Given the description of an element on the screen output the (x, y) to click on. 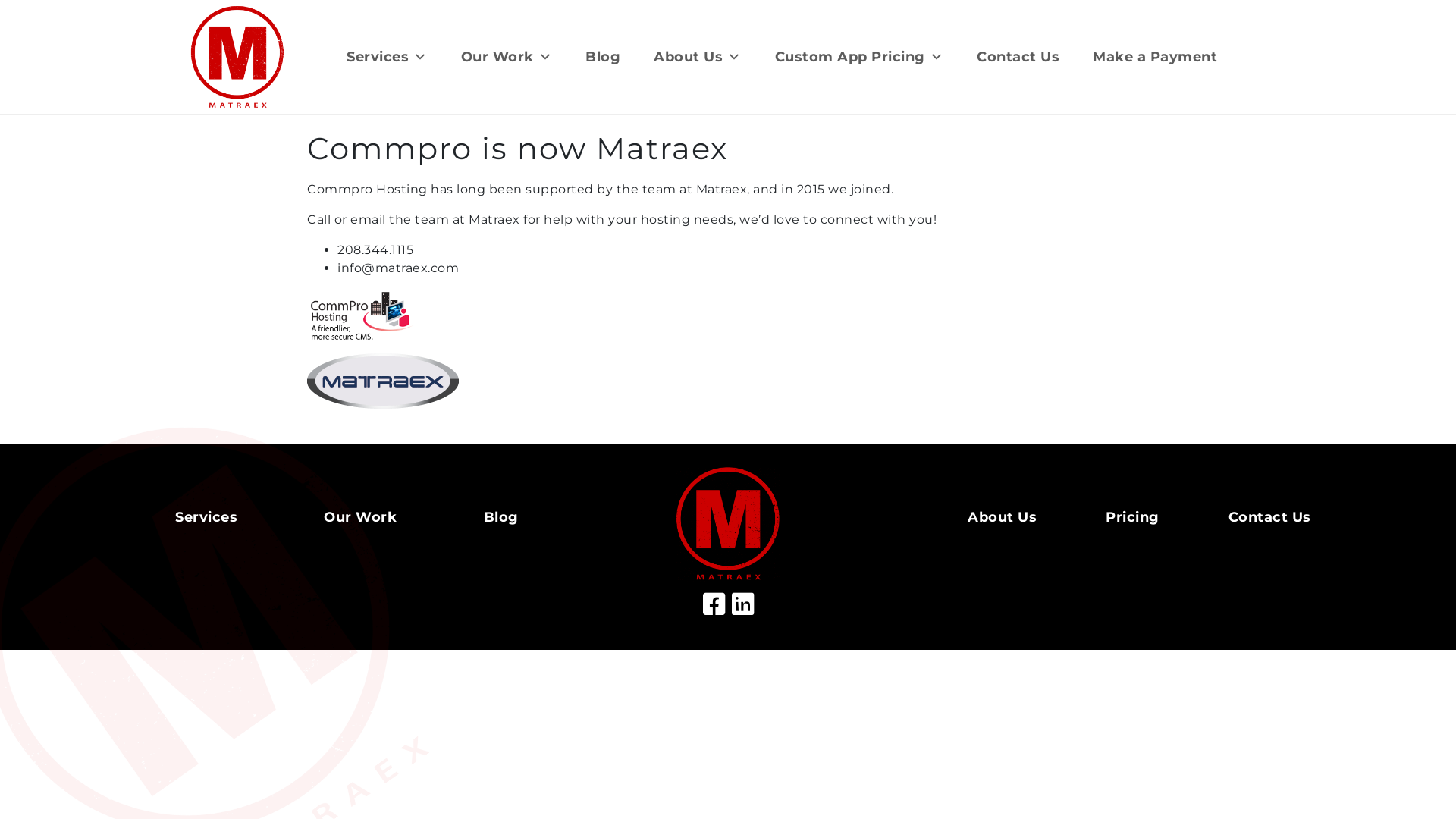
Services Element type: text (206, 517)
Contact Us Element type: text (1269, 517)
Our Work Element type: text (506, 56)
Custom App Pricing Element type: text (859, 56)
Services Element type: text (386, 56)
About Us Element type: text (1001, 517)
Blog Element type: text (602, 56)
Make a Payment Element type: text (1154, 56)
Contact Us Element type: text (1017, 56)
LinkedIn Icon Element type: text (742, 605)
Our Work Element type: text (359, 517)
Pricing Element type: text (1132, 517)
About Us Element type: text (697, 56)
Facebook Icon Element type: text (713, 605)
Blog Element type: text (500, 517)
